Given the description of an element on the screen output the (x, y) to click on. 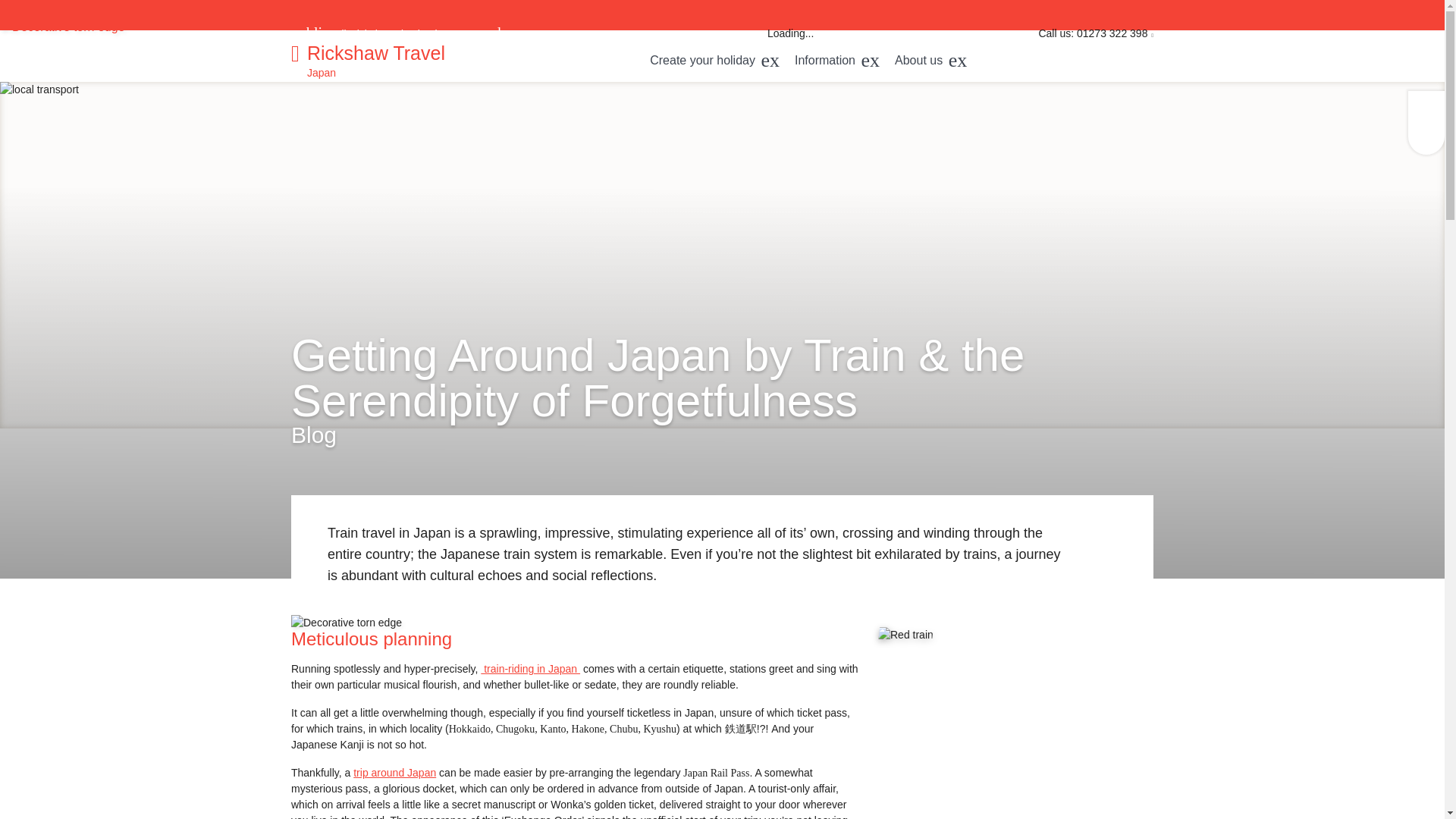
Red train (905, 634)
trip around Japan (394, 772)
 train-riding in Japan  (529, 668)
